Given the description of an element on the screen output the (x, y) to click on. 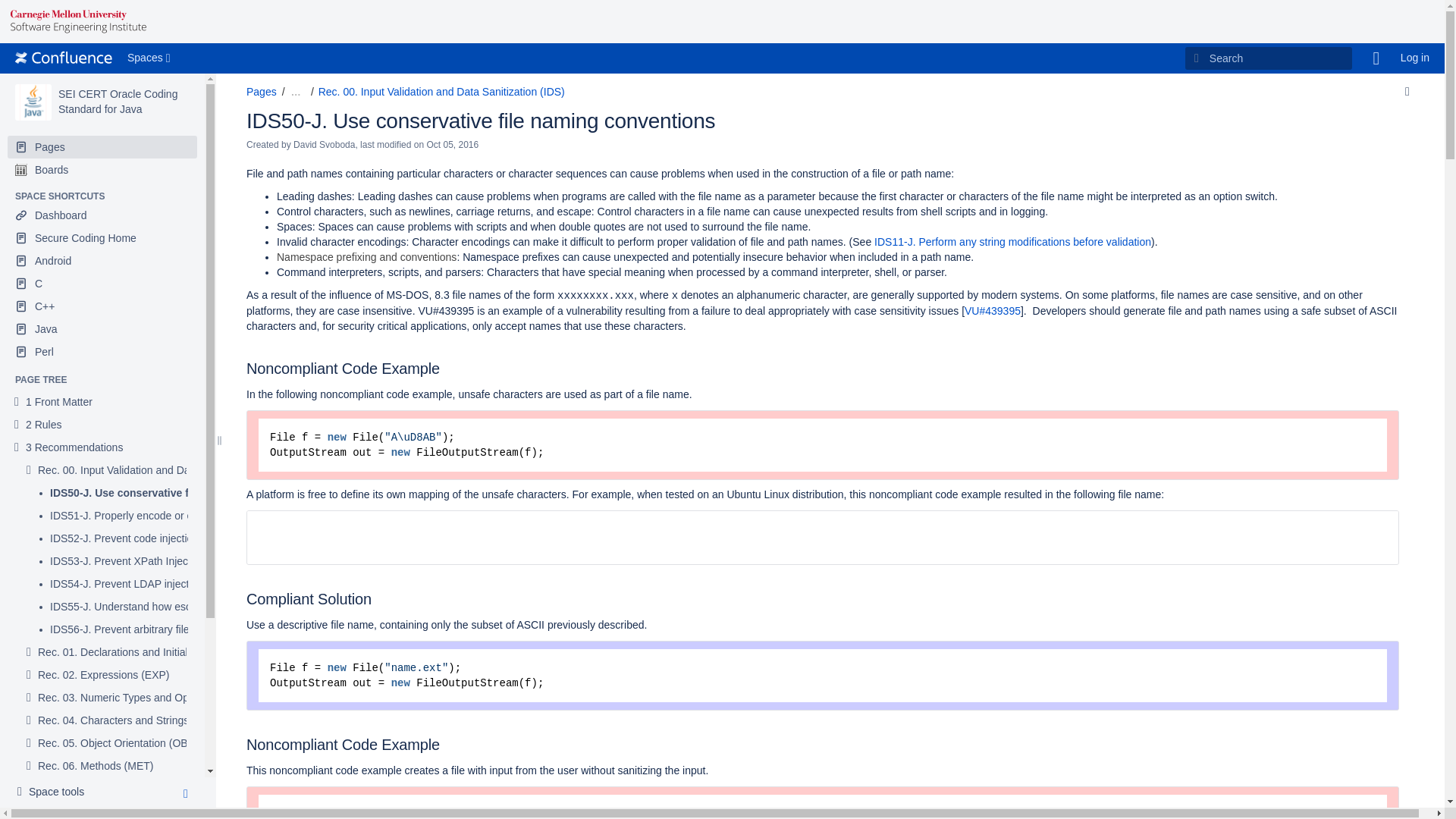
Dashboard (101, 214)
Spaces (149, 58)
Spaces (149, 58)
3 Recommendations (74, 447)
1 Front Matter (59, 402)
SEI CERT Oracle Coding Standard for Java (32, 102)
Confluence (63, 58)
Pages (101, 146)
C (101, 282)
SEI CERT Oracle Coding Standard for Java (117, 101)
SEI CERT Oracle Coding Standard for Java (117, 101)
Perl (101, 351)
Help (1376, 58)
Boards (101, 169)
2 Rules (43, 425)
